Given the description of an element on the screen output the (x, y) to click on. 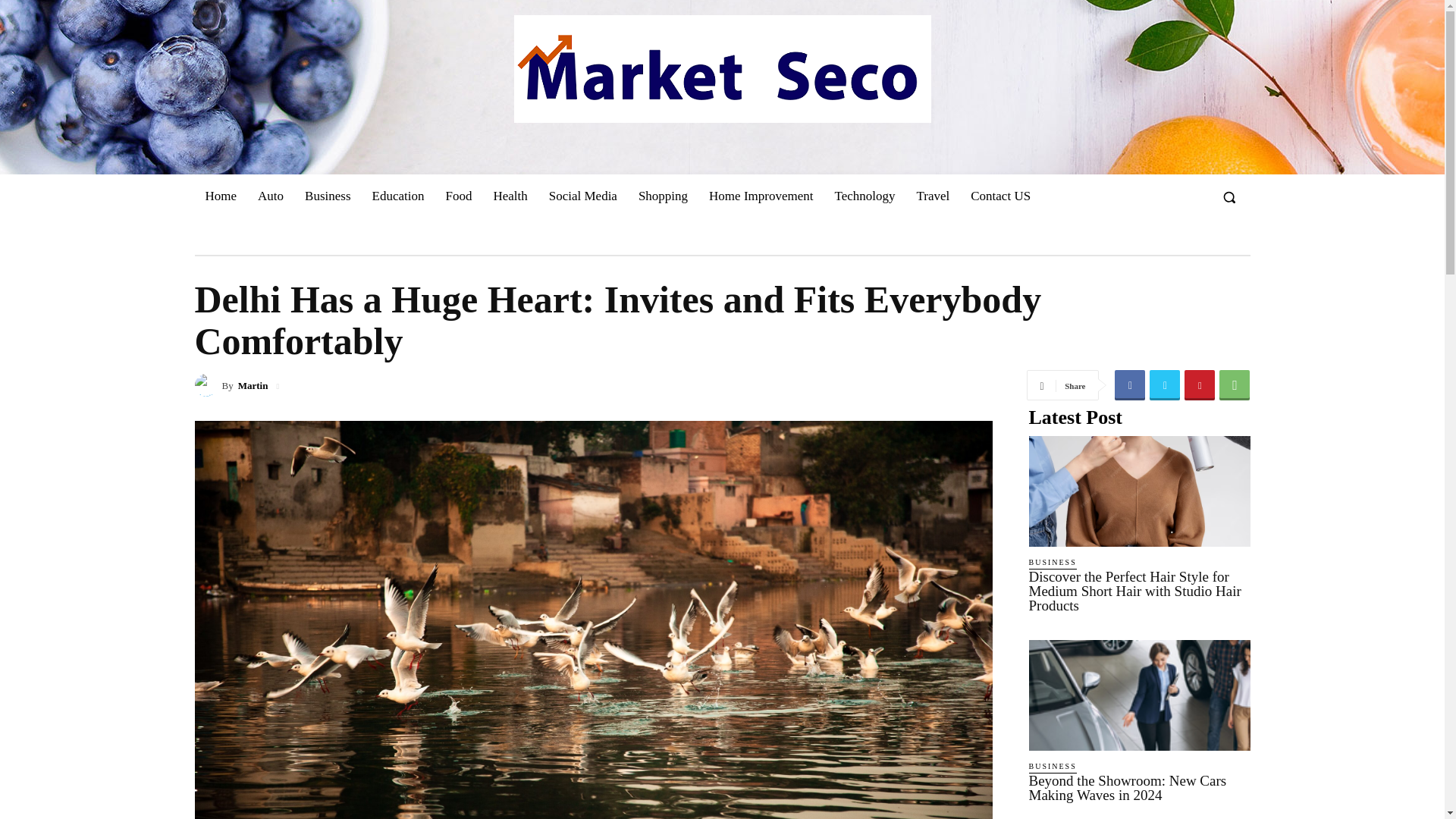
Education (398, 196)
Contact US (1000, 196)
Food (457, 196)
Travel (932, 196)
Business (327, 196)
Technology (864, 196)
Health (509, 196)
Home (220, 196)
Auto (270, 196)
Social Media (582, 196)
Shopping (662, 196)
Home Improvement (761, 196)
